Given the description of an element on the screen output the (x, y) to click on. 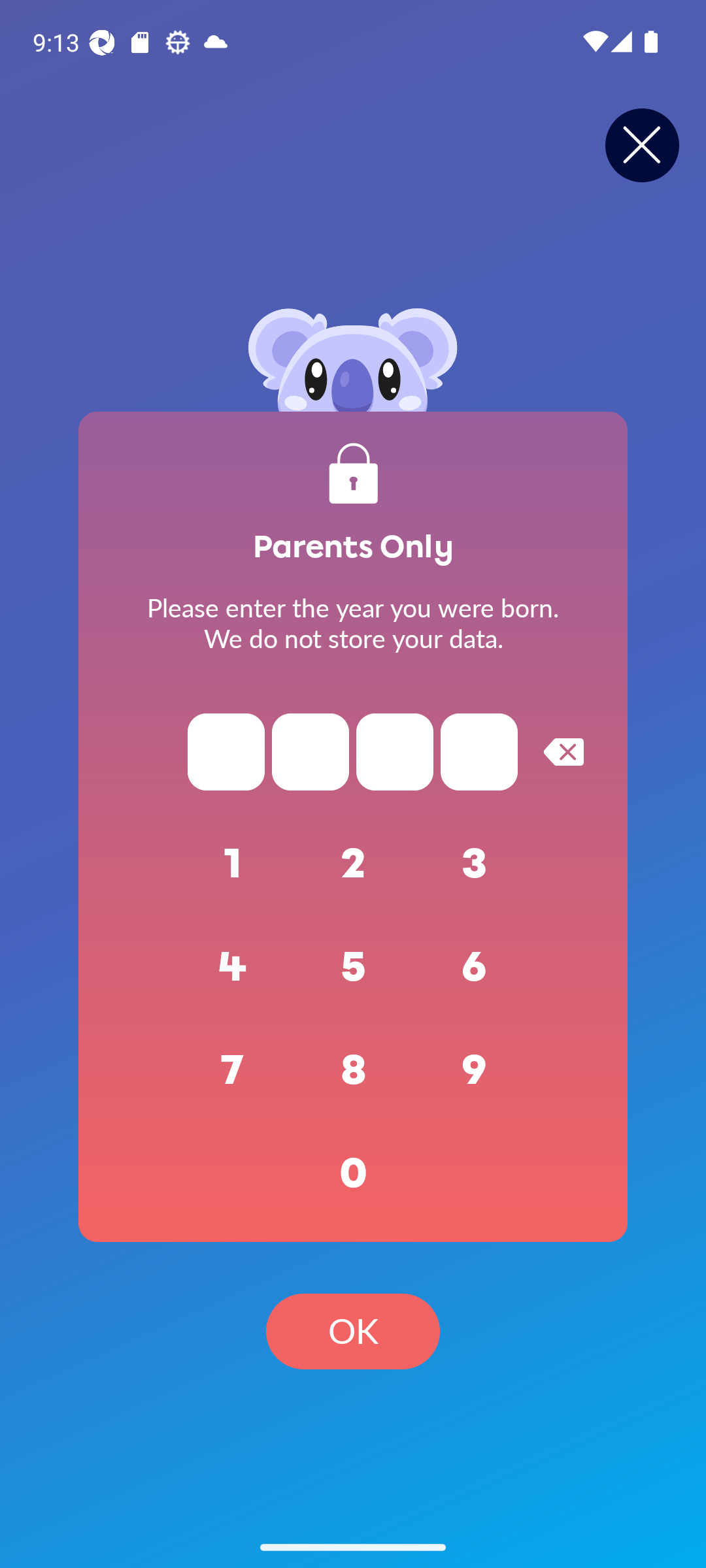
Delete (563, 751)
1 (232, 863)
2 (353, 863)
3 (474, 863)
4 (232, 966)
5 (353, 966)
6 (474, 966)
7 (232, 1069)
8 (353, 1069)
9 (474, 1069)
0 (353, 1173)
OK (352, 1331)
